Given the description of an element on the screen output the (x, y) to click on. 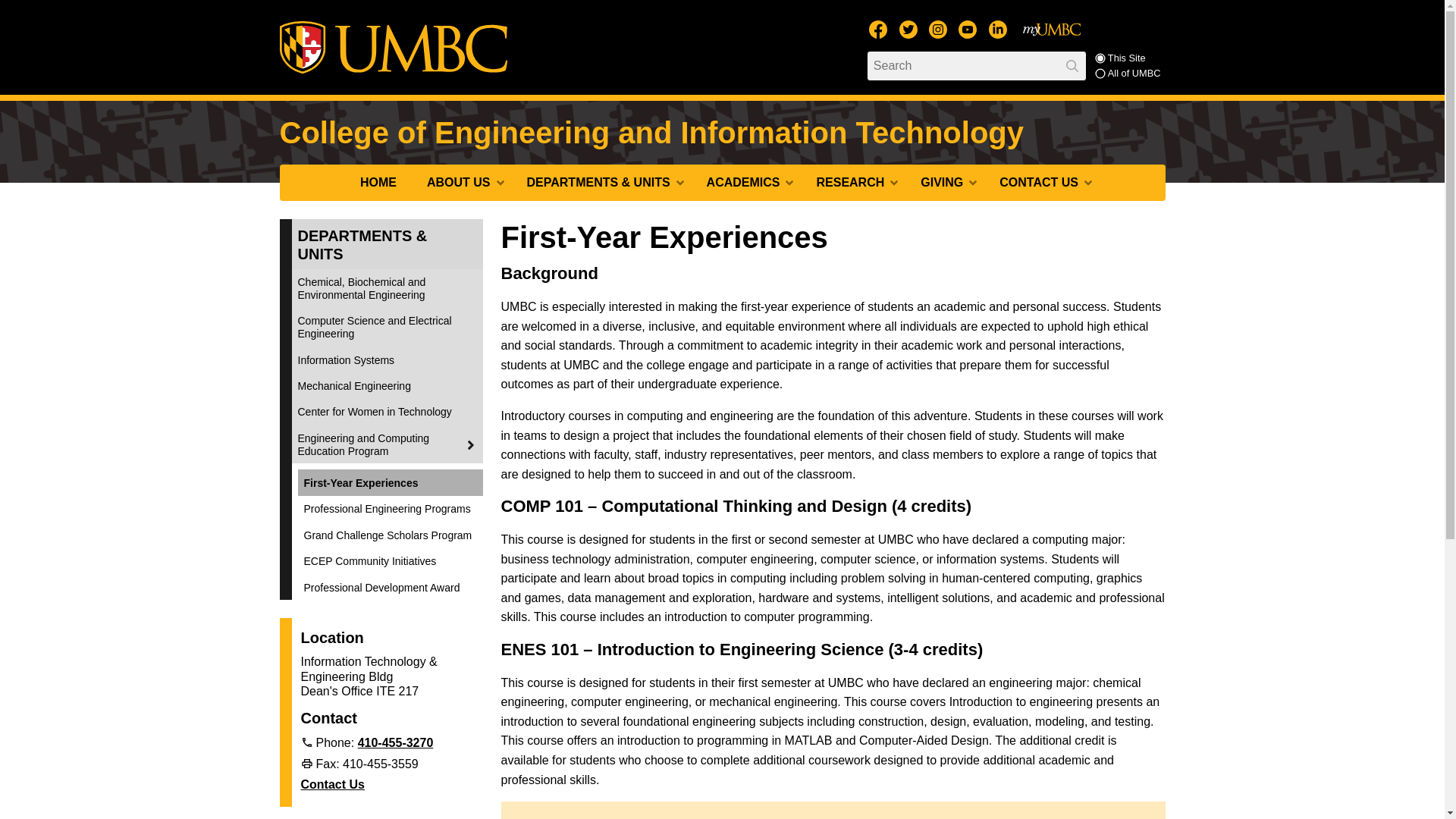
ABOUT US (462, 182)
HOME (378, 182)
College of Engineering and Information Technology (651, 132)
